Given the description of an element on the screen output the (x, y) to click on. 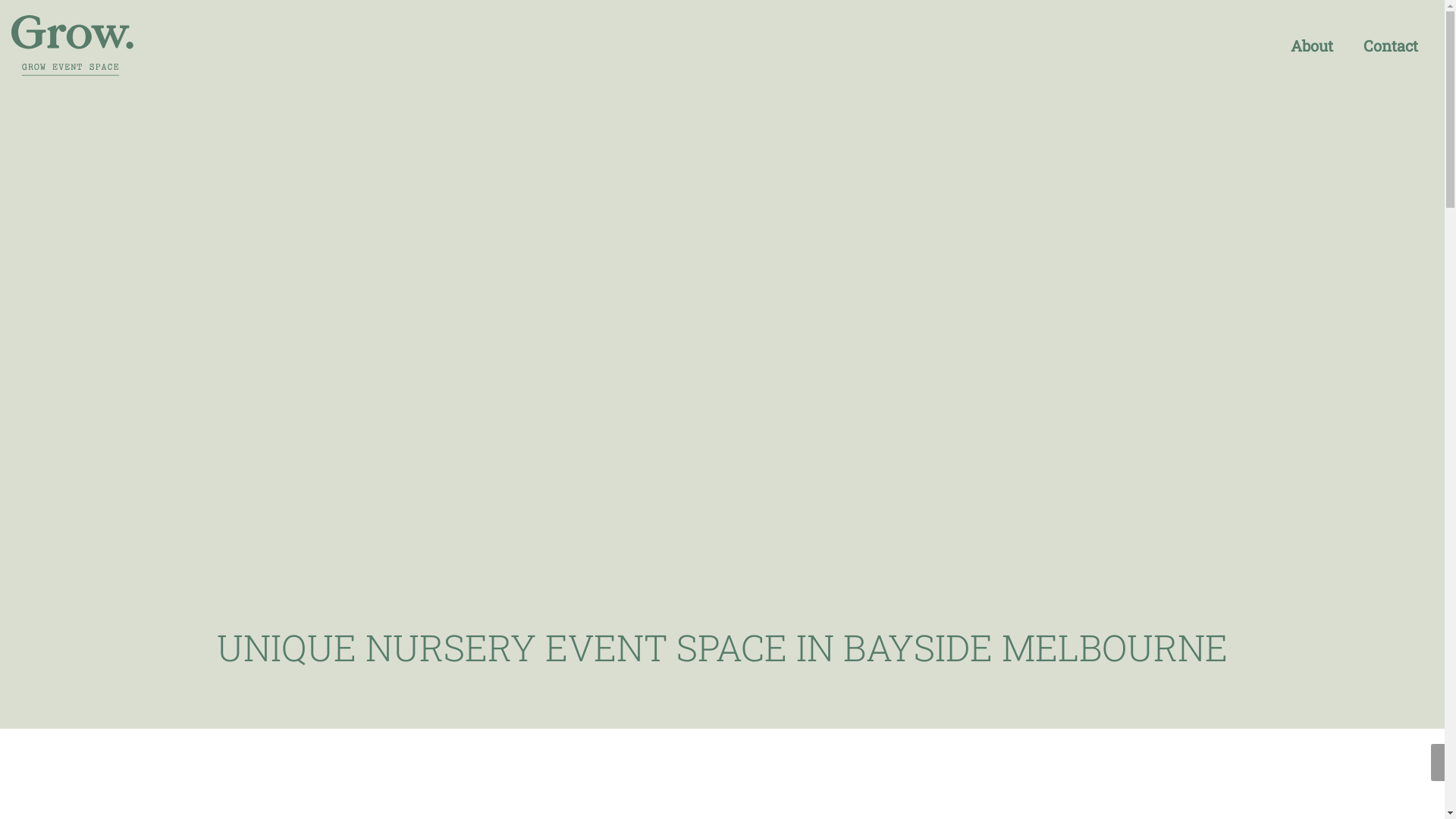
About Element type: text (1311, 45)
Contact Element type: text (1390, 45)
